Given the description of an element on the screen output the (x, y) to click on. 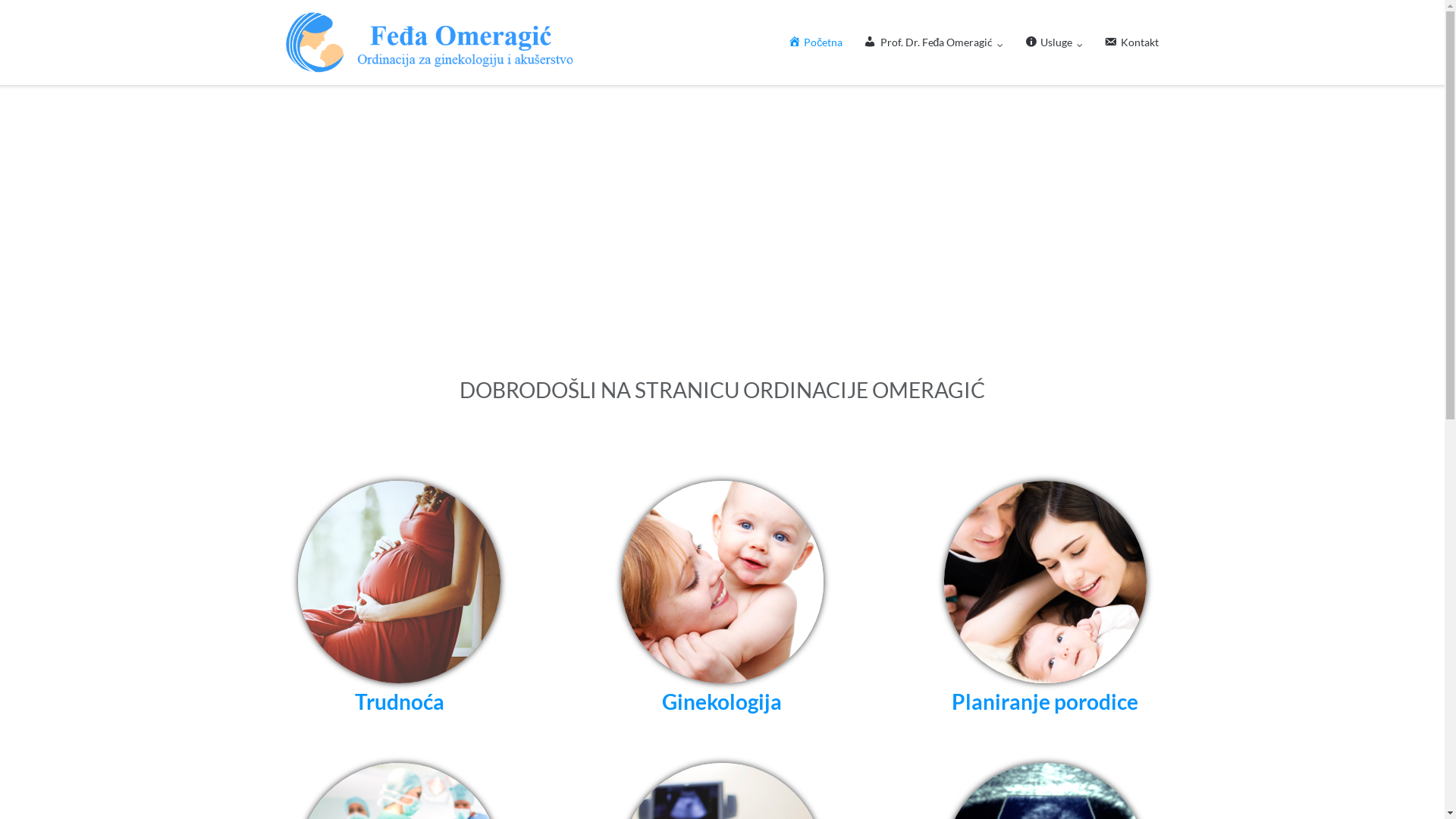
Ginekologija Element type: text (722, 600)
Kontakt Element type: text (1130, 42)
Usluge Element type: text (1053, 42)
Planiranje porodice Element type: text (1045, 600)
Advertisement Element type: hover (722, 236)
Skip to content Element type: text (0, 0)
